Given the description of an element on the screen output the (x, y) to click on. 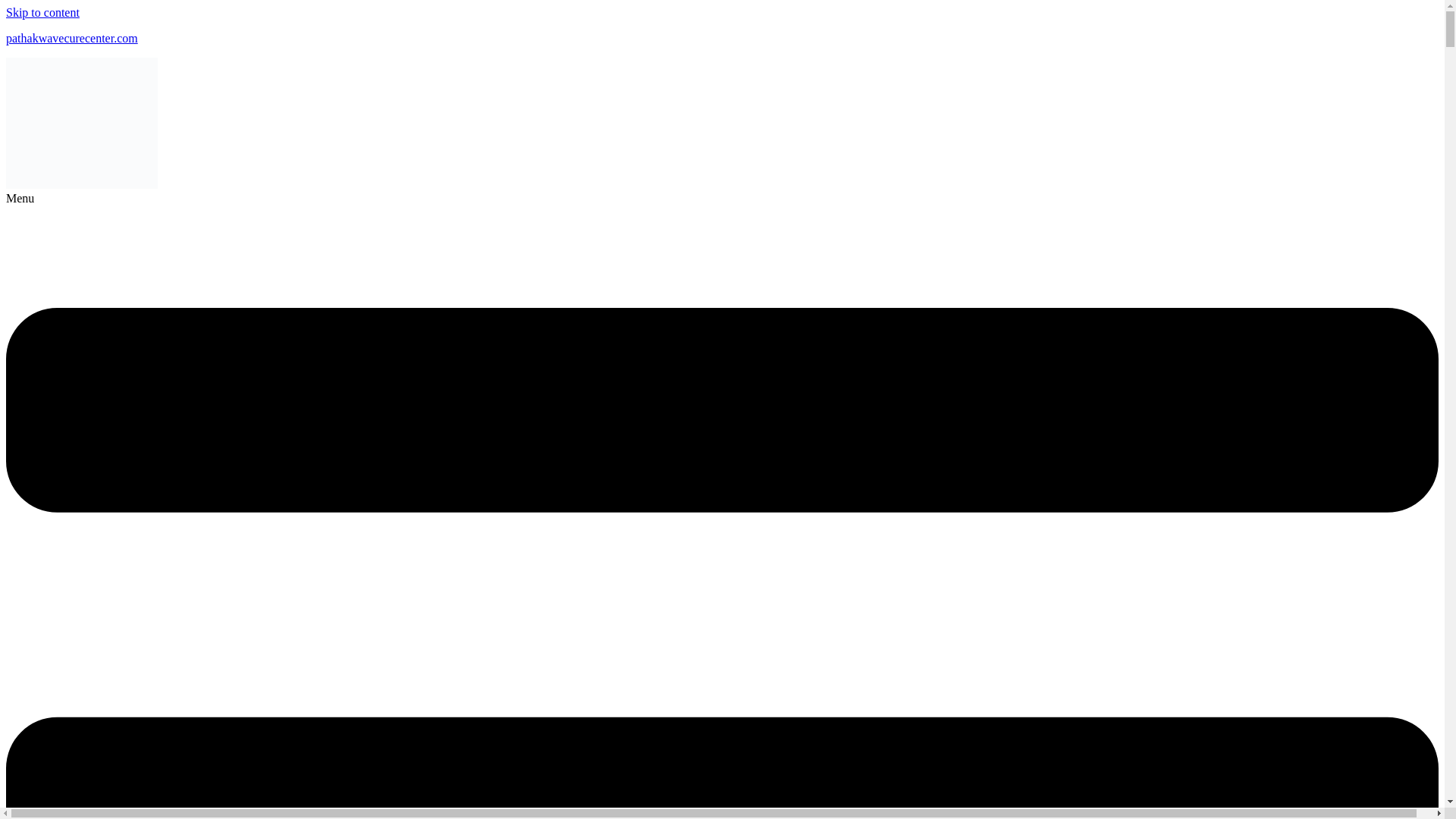
pathakwavecurecenter.com (71, 38)
Skip to content (42, 11)
Skip to content (42, 11)
pathakwavecurecenter.com (71, 38)
